Given the description of an element on the screen output the (x, y) to click on. 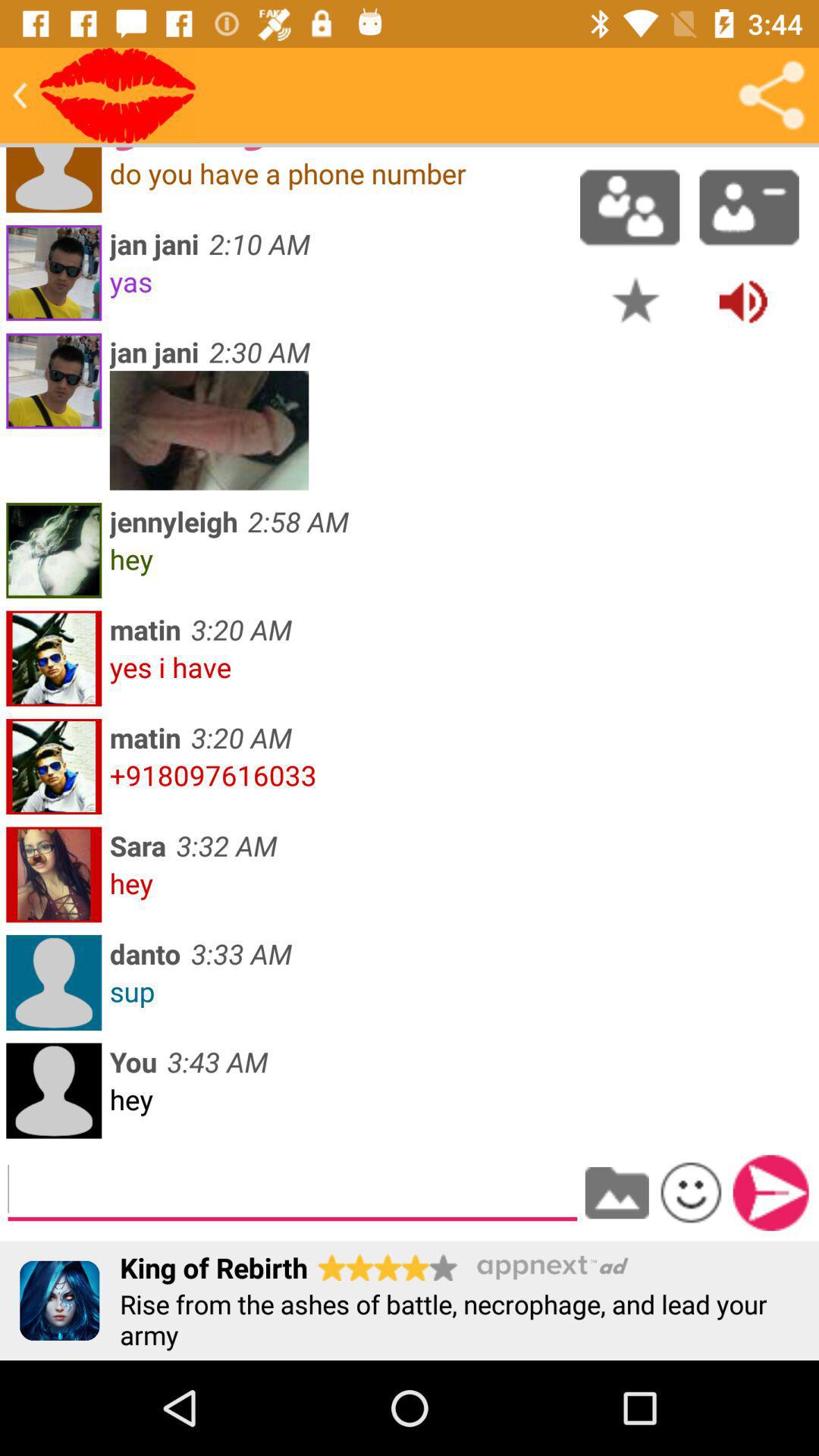
save to device (616, 1192)
